Given the description of an element on the screen output the (x, y) to click on. 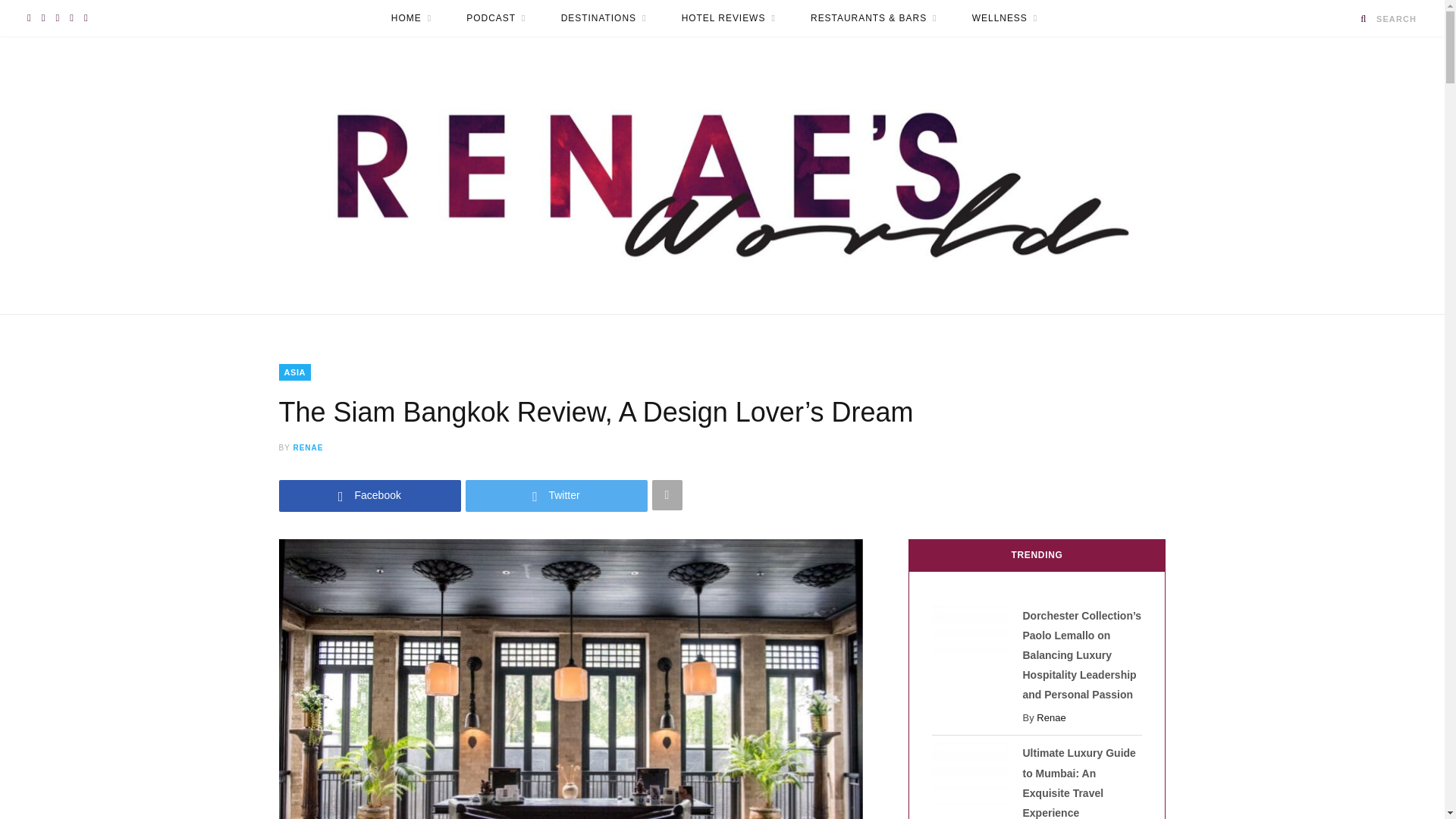
Facebook (370, 495)
Pinterest (86, 18)
DESTINATIONS (603, 18)
Twitter (556, 495)
HOTEL REVIEWS (728, 18)
HOME (410, 18)
Facebook (71, 18)
Instagram (43, 18)
Posts by Renae (307, 447)
YouTube (28, 18)
PODCAST (495, 18)
LinkedIn (57, 18)
